Given the description of an element on the screen output the (x, y) to click on. 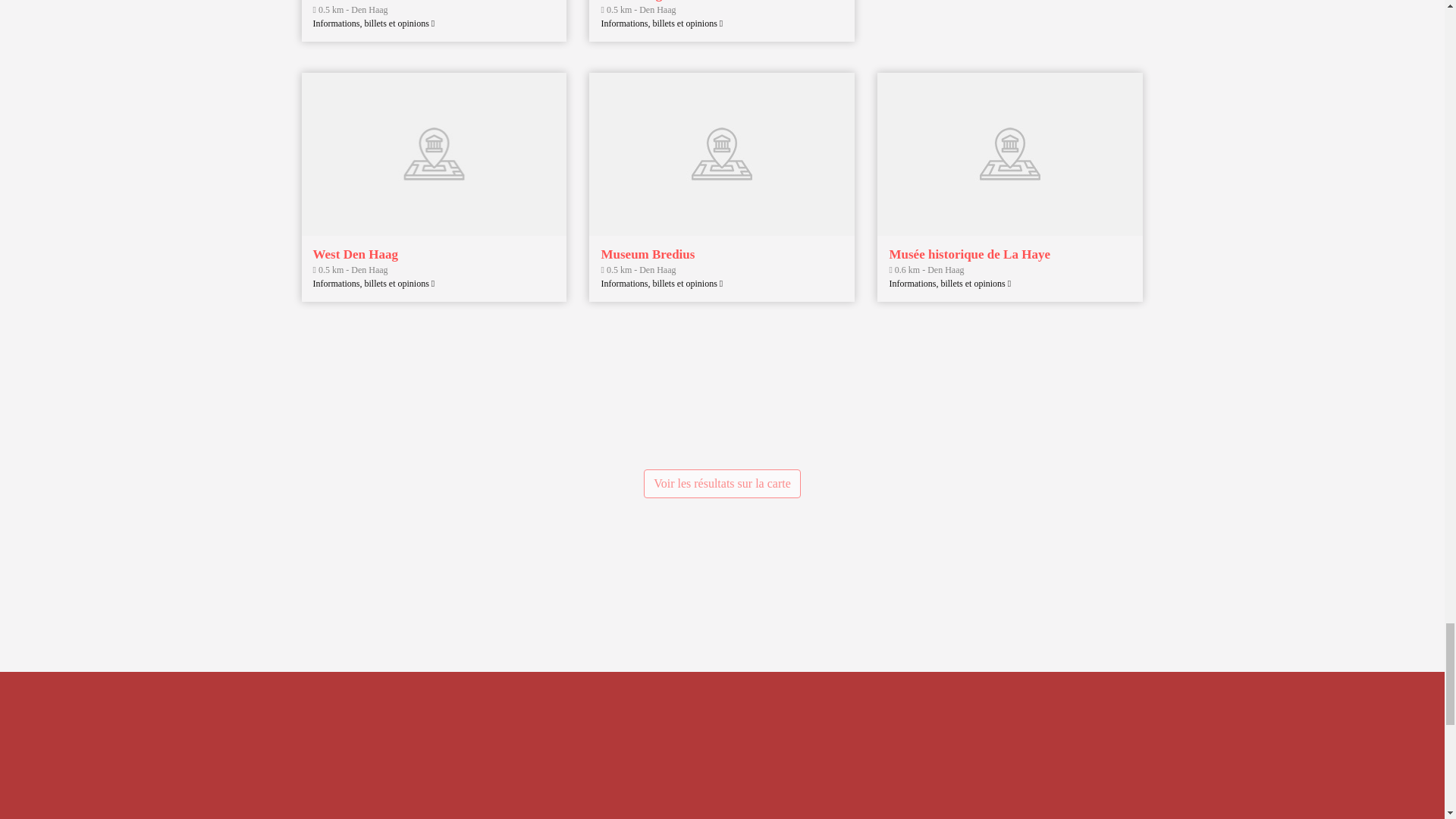
De Mesdag Collectie (656, 0)
West Den Haag (355, 254)
Escher in Het Paleis (368, 0)
Museum Bredius (646, 254)
